Given the description of an element on the screen output the (x, y) to click on. 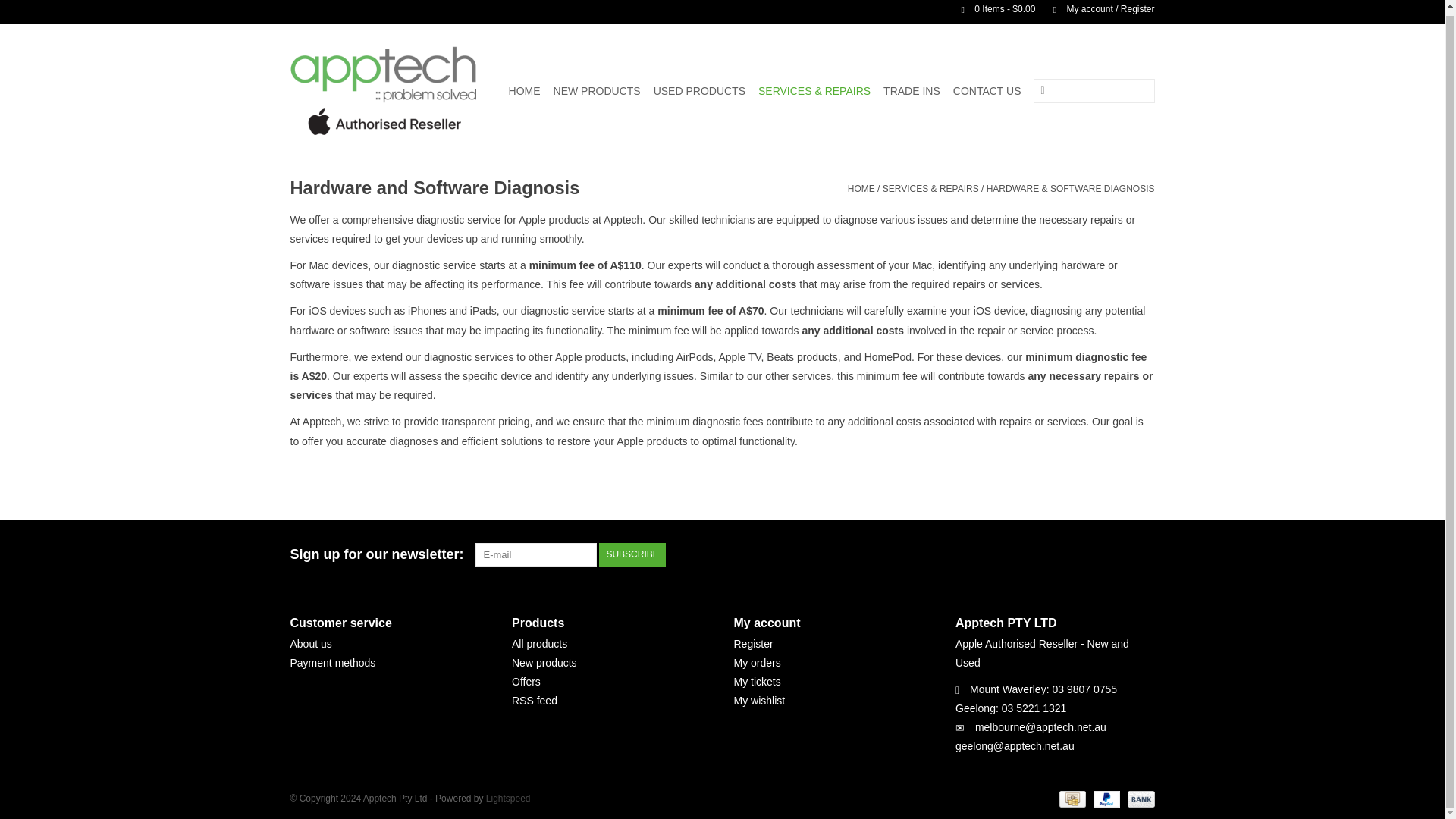
My account (1096, 9)
Cart (992, 9)
Apptech Pty Ltd (385, 90)
NEW PRODUCTS (596, 90)
HOME (523, 90)
New Products (596, 90)
